Given the description of an element on the screen output the (x, y) to click on. 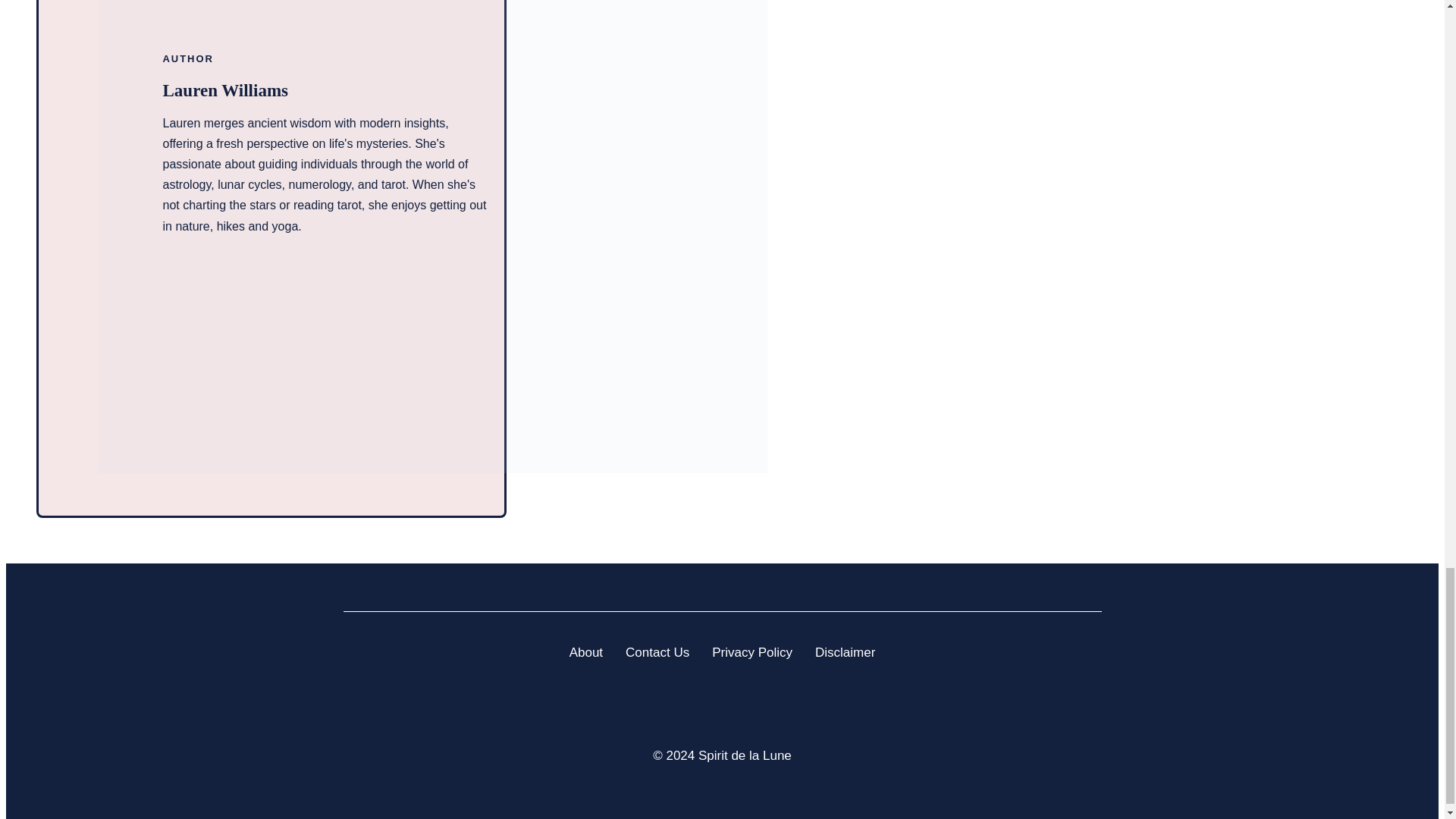
Disclaimer (845, 653)
Contact Us (657, 653)
Privacy Policy (751, 653)
About (585, 653)
